Given the description of an element on the screen output the (x, y) to click on. 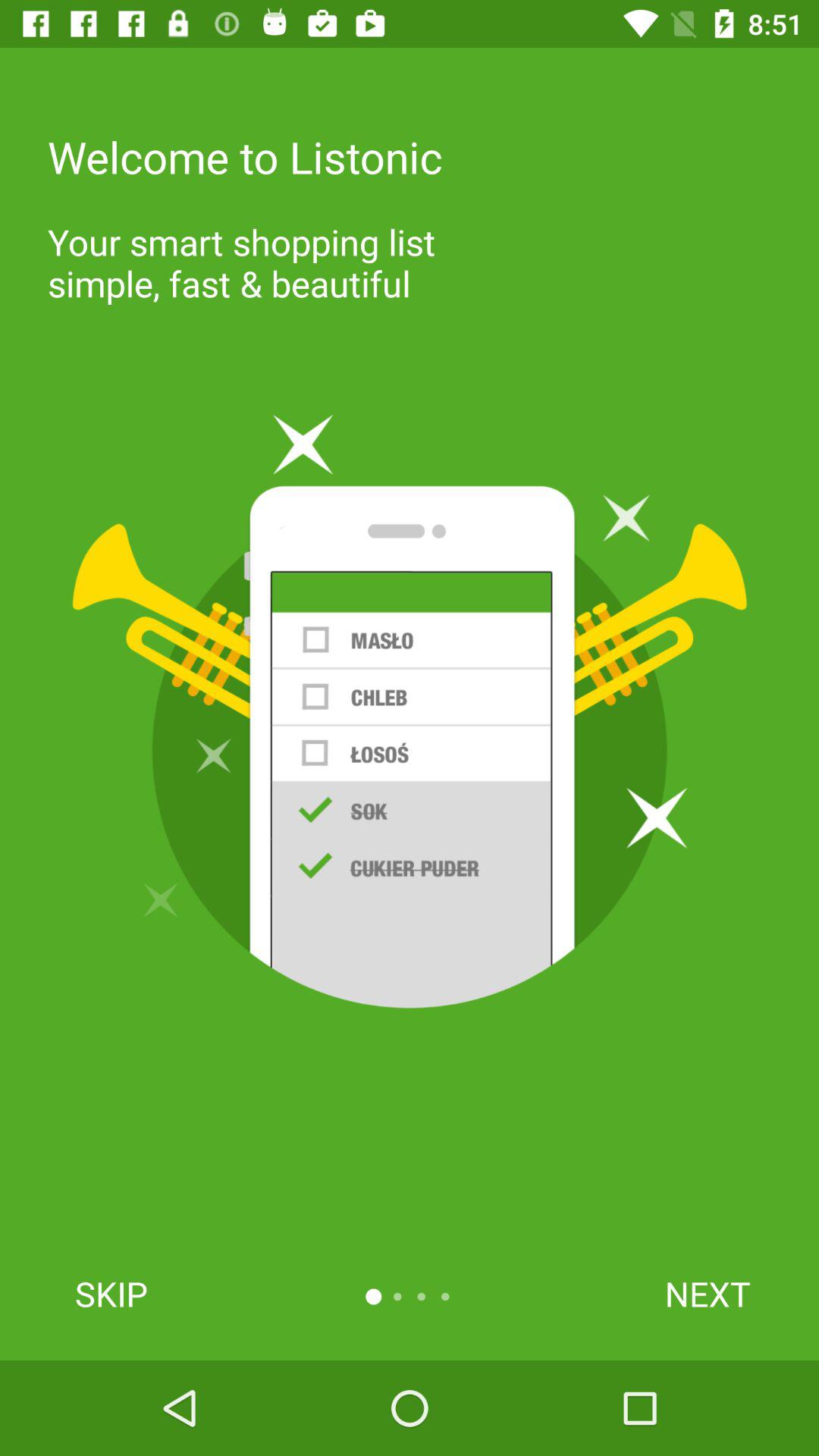
click the item above skip item (409, 711)
